Given the description of an element on the screen output the (x, y) to click on. 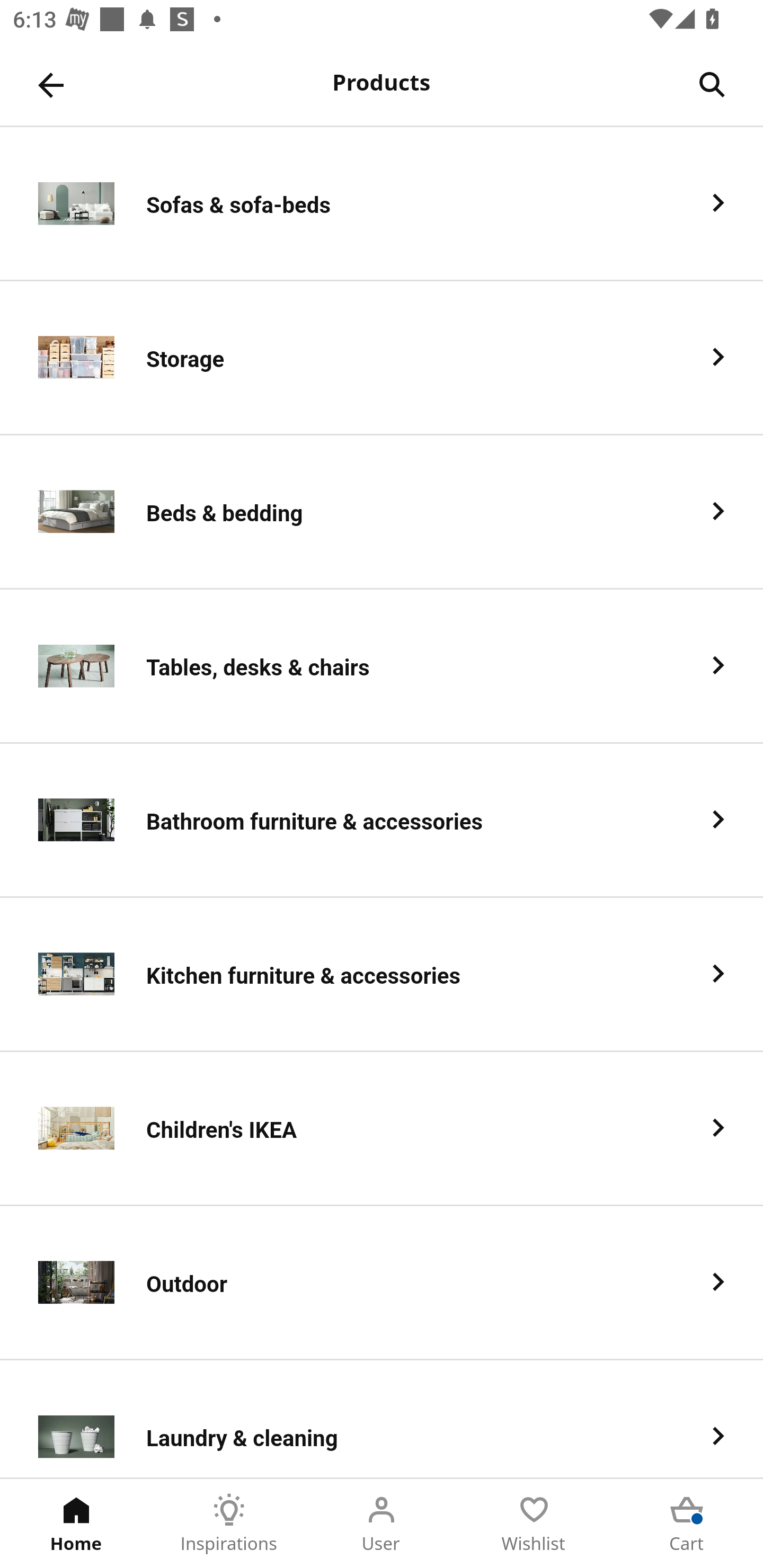
Sofas & sofa-beds (381, 203)
Storage (381, 357)
Beds & bedding (381, 512)
Tables, desks & chairs (381, 666)
Bathroom furniture & accessories (381, 820)
Kitchen furniture & accessories (381, 975)
Children's IKEA (381, 1128)
Outdoor (381, 1283)
Laundry & cleaning (381, 1419)
Home
Tab 1 of 5 (76, 1522)
Inspirations
Tab 2 of 5 (228, 1522)
User
Tab 3 of 5 (381, 1522)
Wishlist
Tab 4 of 5 (533, 1522)
Cart
Tab 5 of 5 (686, 1522)
